Given the description of an element on the screen output the (x, y) to click on. 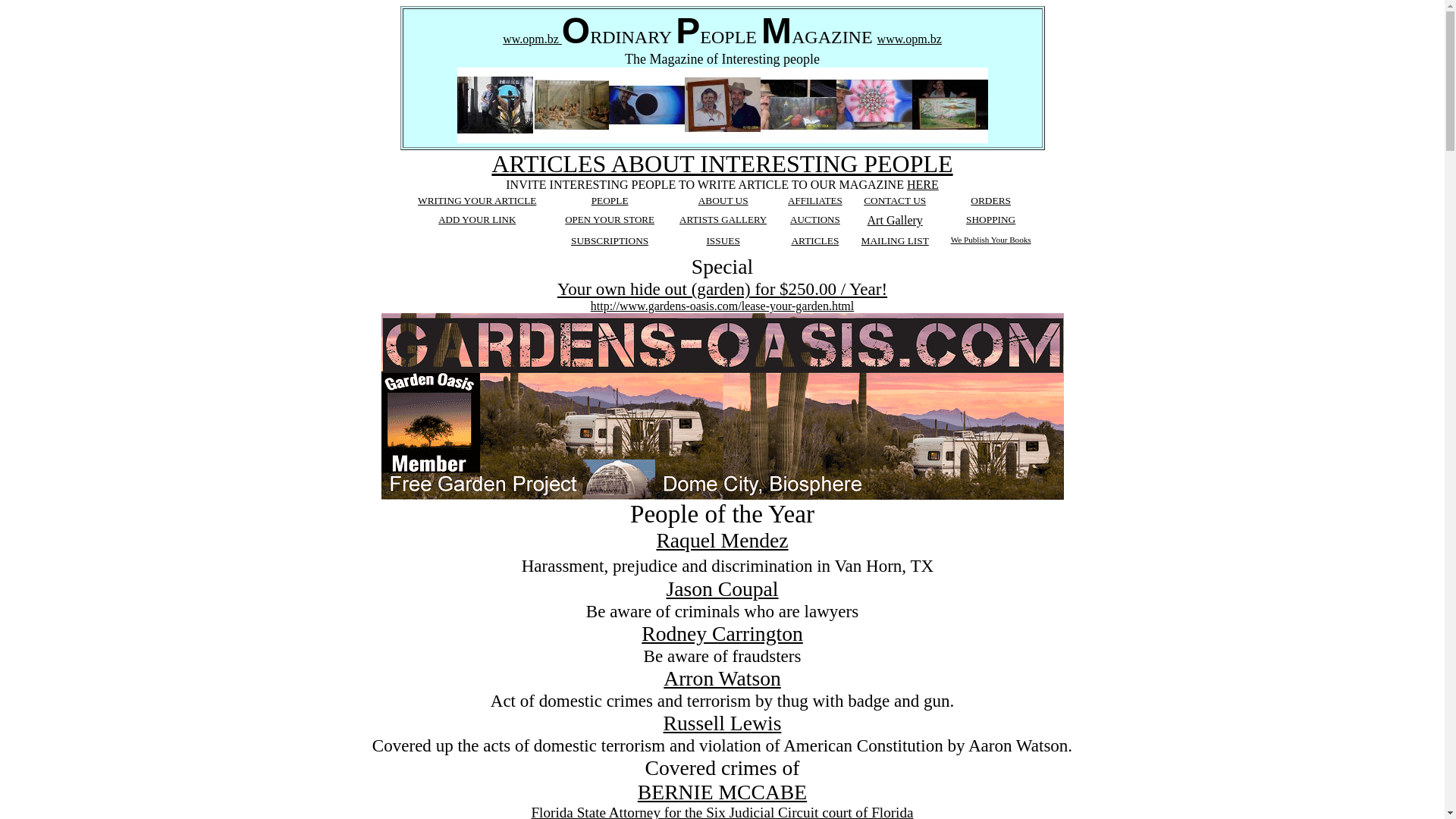
ADD YOUR LINK Element type: text (476, 219)
HERE Element type: text (922, 184)
ORDERS Element type: text (990, 200)
MAILING LIST Element type: text (894, 240)
AFFILIATES Element type: text (814, 200)
We Publish Your Books Element type: text (990, 239)
SUBSCRIPTIONS Element type: text (609, 240)
Jason Coupal Element type: text (721, 588)
WRITING YOUR ARTICLE Element type: text (476, 200)
OPEN YOUR STORE Element type: text (609, 219)
Your own hide out (garden) for $250.00 / Year! Element type: text (722, 288)
BERNIE MCCABE Element type: text (721, 791)
Art Gallery Element type: text (894, 219)
ARTICLES ABOUT INTERESTING PEOPLE Element type: text (721, 163)
Rodney Carrington Element type: text (722, 633)
ww.opm.bz Element type: text (531, 38)
SHOPPING Element type: text (990, 219)
CONTACT US Element type: text (894, 200)
ARTICLES Element type: text (814, 240)
ARTISTS GALLERY Element type: text (722, 219)
PEOPLE Element type: text (609, 199)
www.opm.bz Element type: text (909, 38)
AUCTIONS Element type: text (815, 219)
ABOUT US Element type: text (723, 200)
Arron Watson Element type: text (722, 678)
ISSUES Element type: text (722, 240)
http://www.gardens-oasis.com/lease-your-garden.html Element type: text (721, 305)
Russell Lewis Element type: text (722, 722)
Raquel Mendez Element type: text (721, 540)
